Given the description of an element on the screen output the (x, y) to click on. 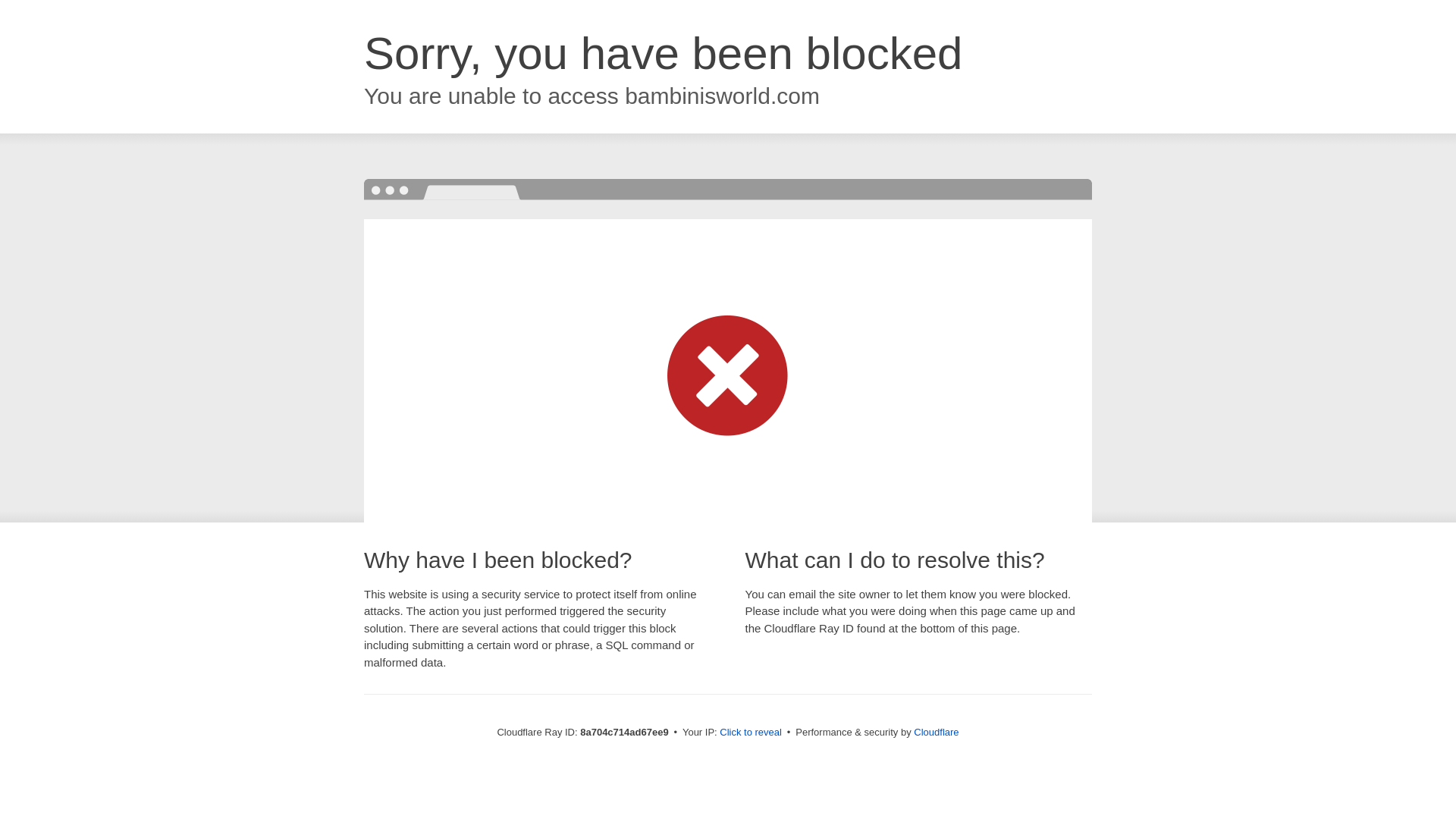
Cloudflare (936, 731)
Click to reveal (750, 732)
